Given the description of an element on the screen output the (x, y) to click on. 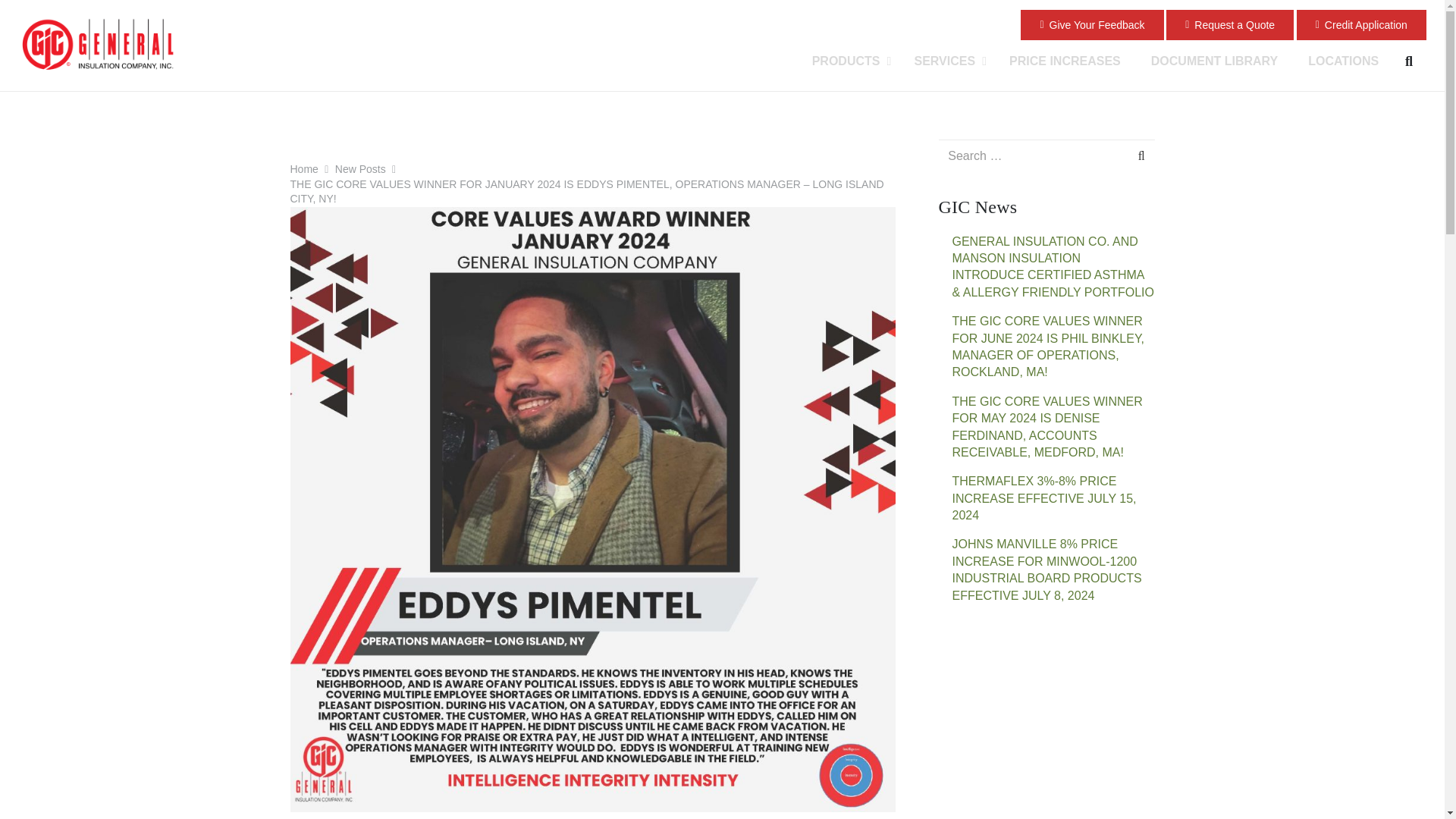
Credit Application (1361, 24)
PRODUCTS (847, 61)
Request a Quote (1230, 24)
Give Your Feedback (1091, 24)
